Given the description of an element on the screen output the (x, y) to click on. 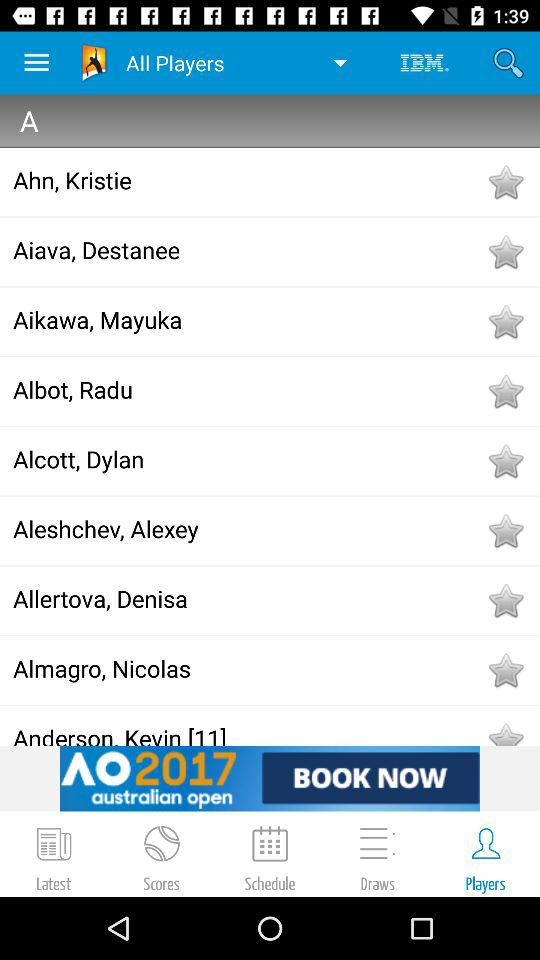
swipe to allertova, denisa icon (248, 598)
